Given the description of an element on the screen output the (x, y) to click on. 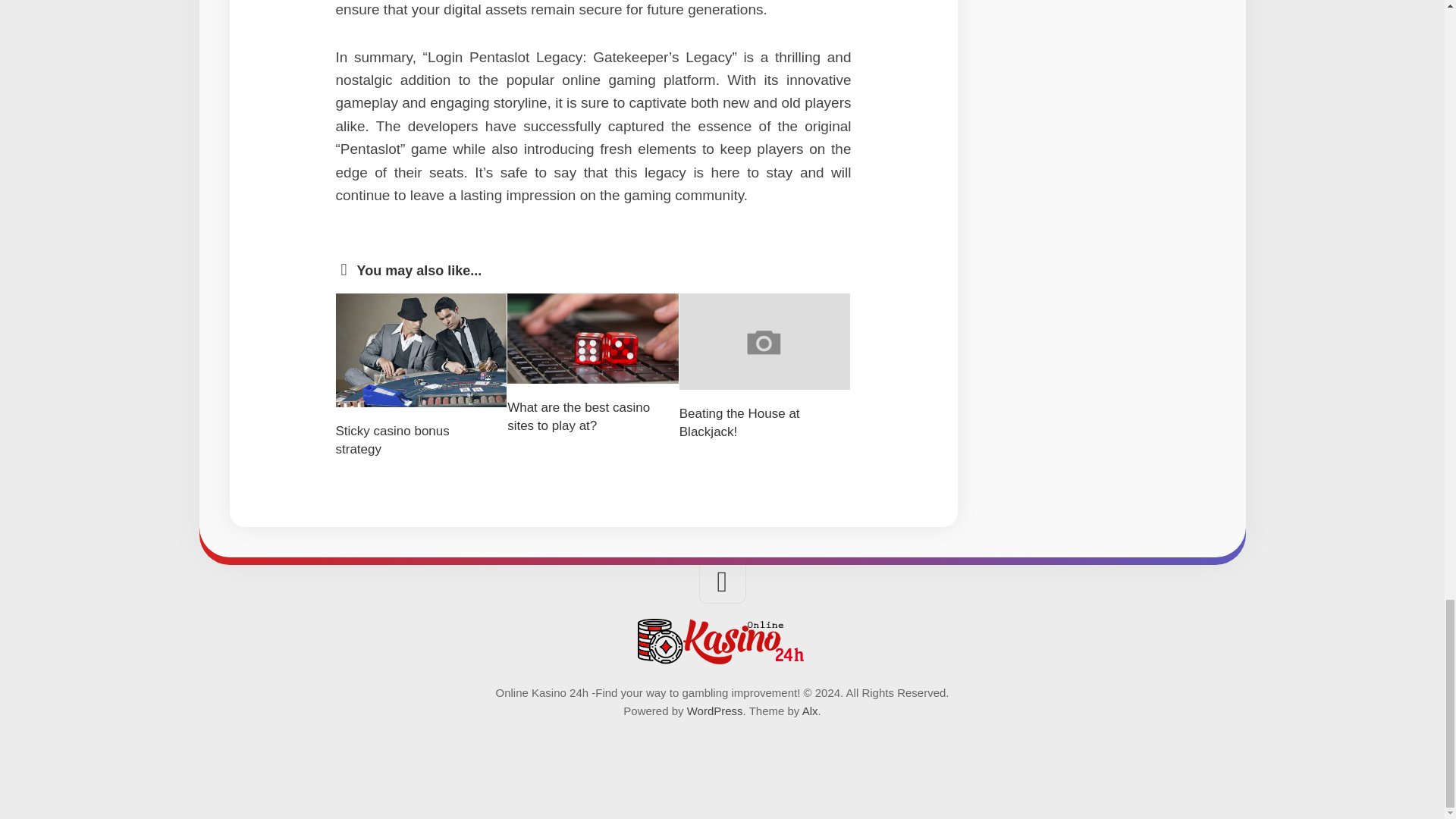
Beating the House at Blackjack! (739, 422)
Sticky casino bonus strategy (391, 440)
What are the best casino sites to play at? (577, 416)
